Given the description of an element on the screen output the (x, y) to click on. 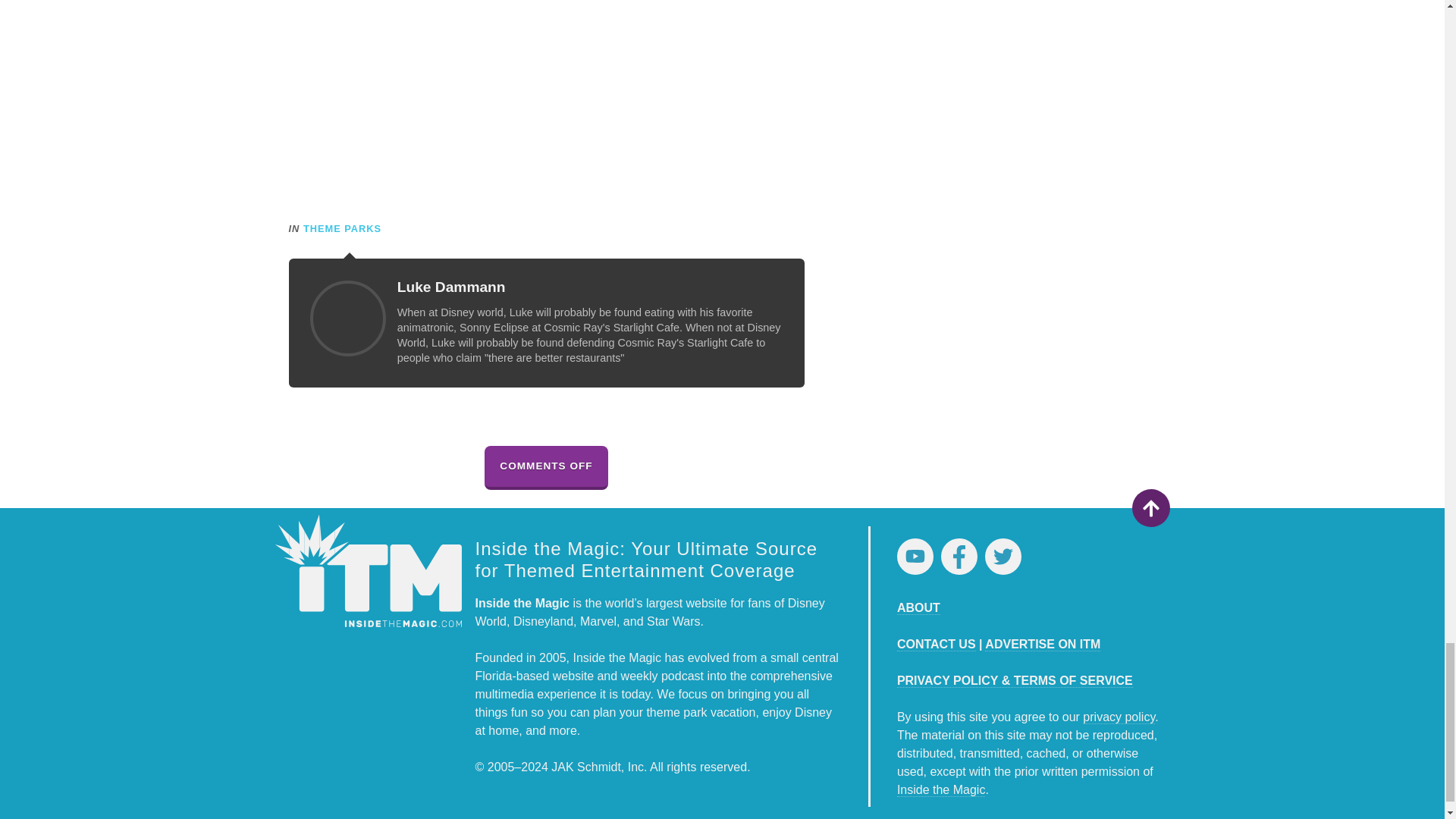
Return to Top (1150, 507)
